Given the description of an element on the screen output the (x, y) to click on. 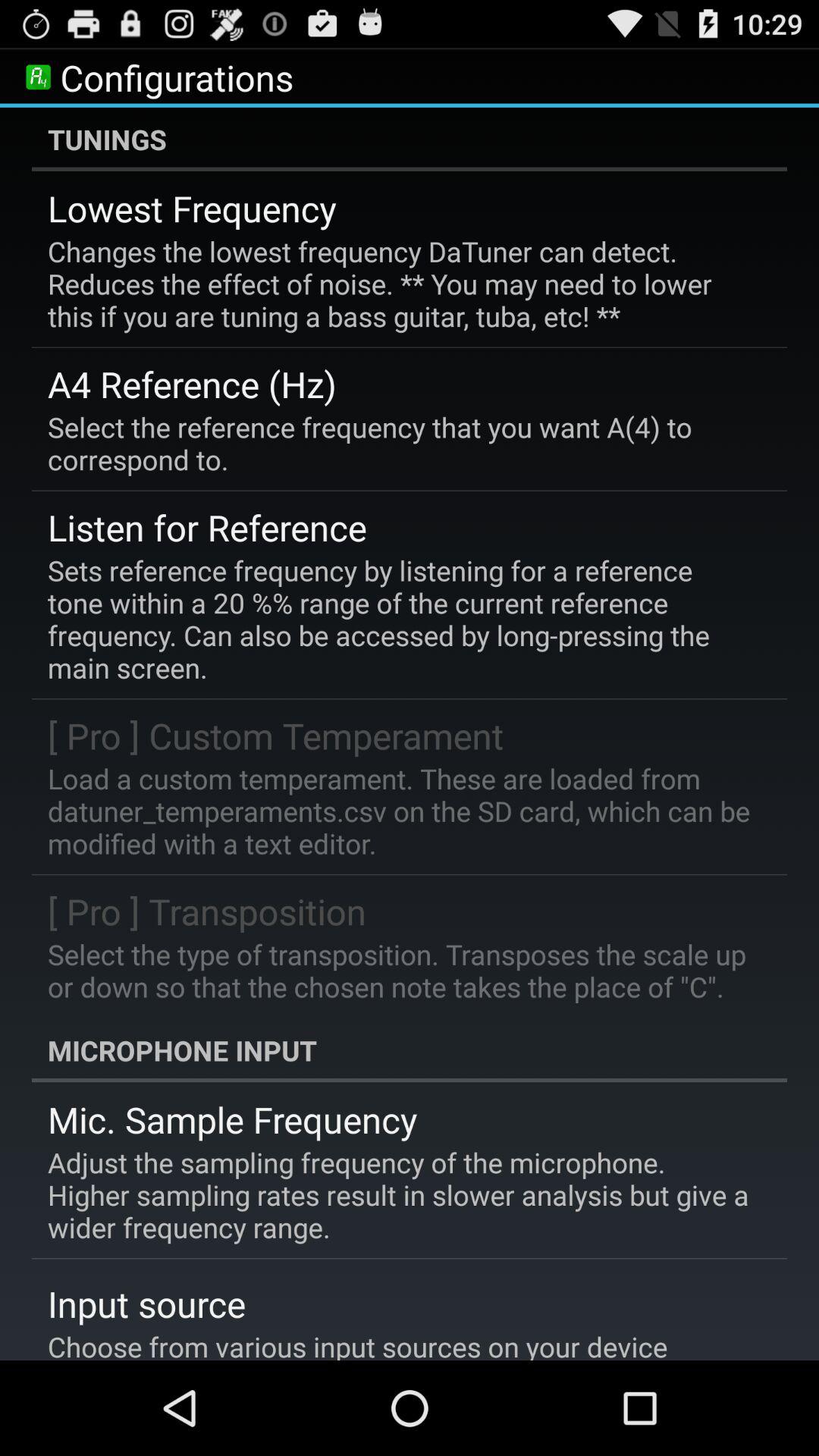
choose the item below [ pro ] custom temperament app (399, 810)
